Given the description of an element on the screen output the (x, y) to click on. 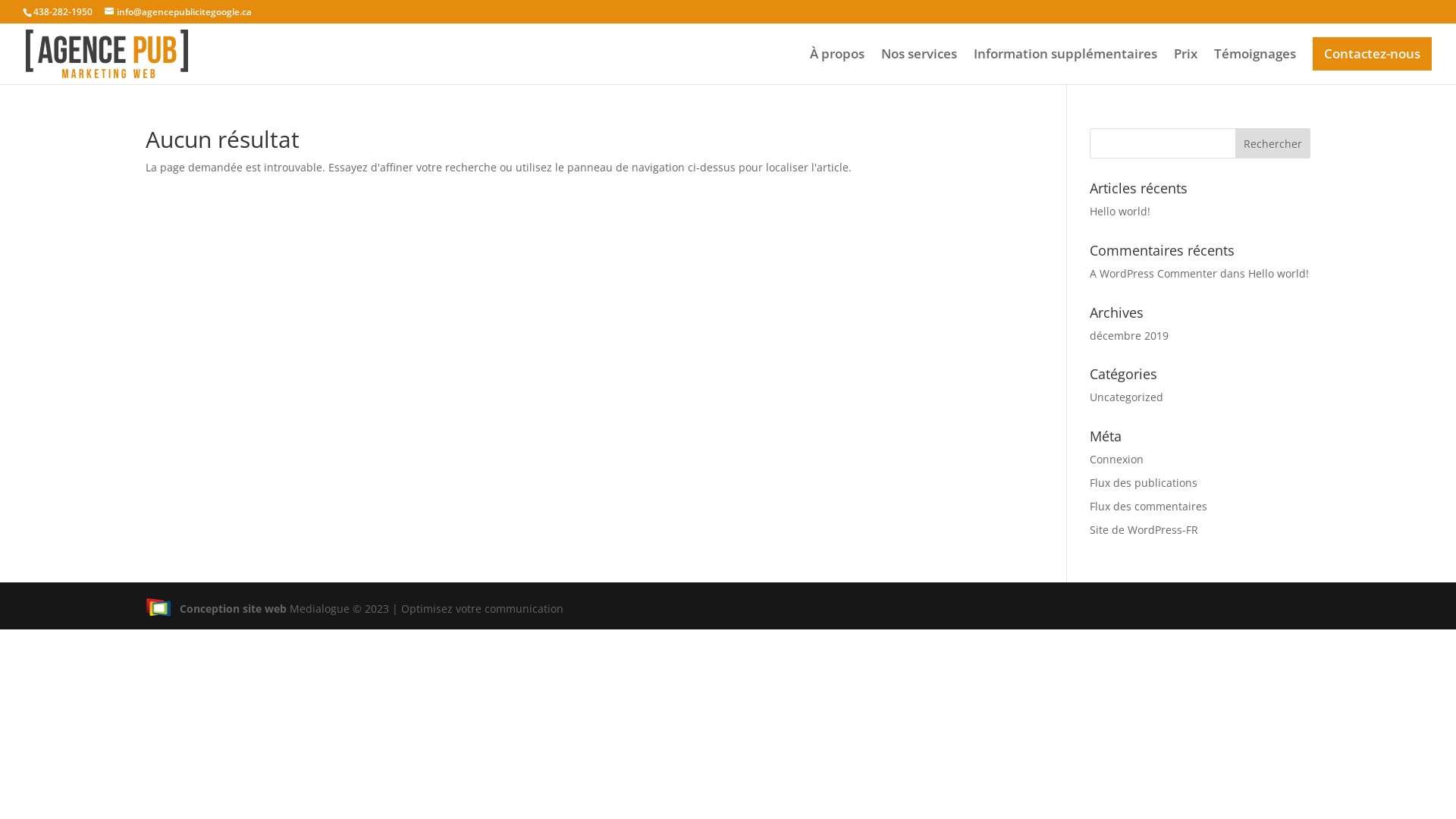
Connexion Element type: text (1116, 458)
A WordPress Commenter Element type: text (1153, 273)
Hello world! Element type: text (1119, 210)
Uncategorized Element type: text (1126, 396)
info@agencepublicitegoogle.ca Element type: text (177, 11)
Contactez-nous Element type: text (1371, 53)
Flux des publications Element type: text (1143, 482)
Prix Element type: text (1185, 66)
Rechercher Element type: text (1272, 143)
Site de WordPress-FR Element type: text (1143, 529)
Hello world! Element type: text (1278, 273)
Nos services Element type: text (919, 66)
Conception site web medialogue Element type: hover (158, 606)
Flux des commentaires Element type: text (1148, 505)
Conception site web Element type: text (215, 608)
